Given the description of an element on the screen output the (x, y) to click on. 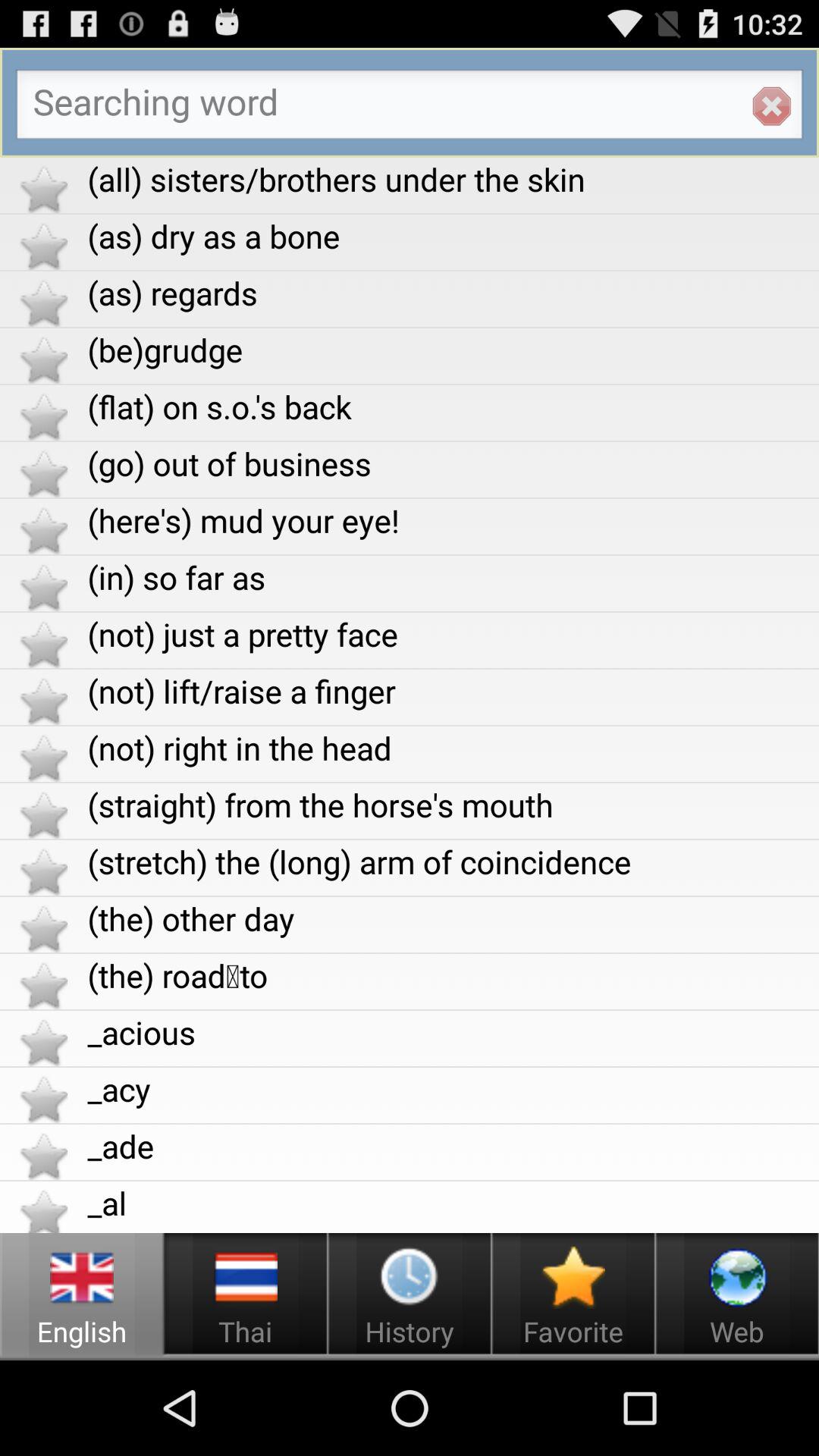
turn on app above straight from the app (453, 747)
